Given the description of an element on the screen output the (x, y) to click on. 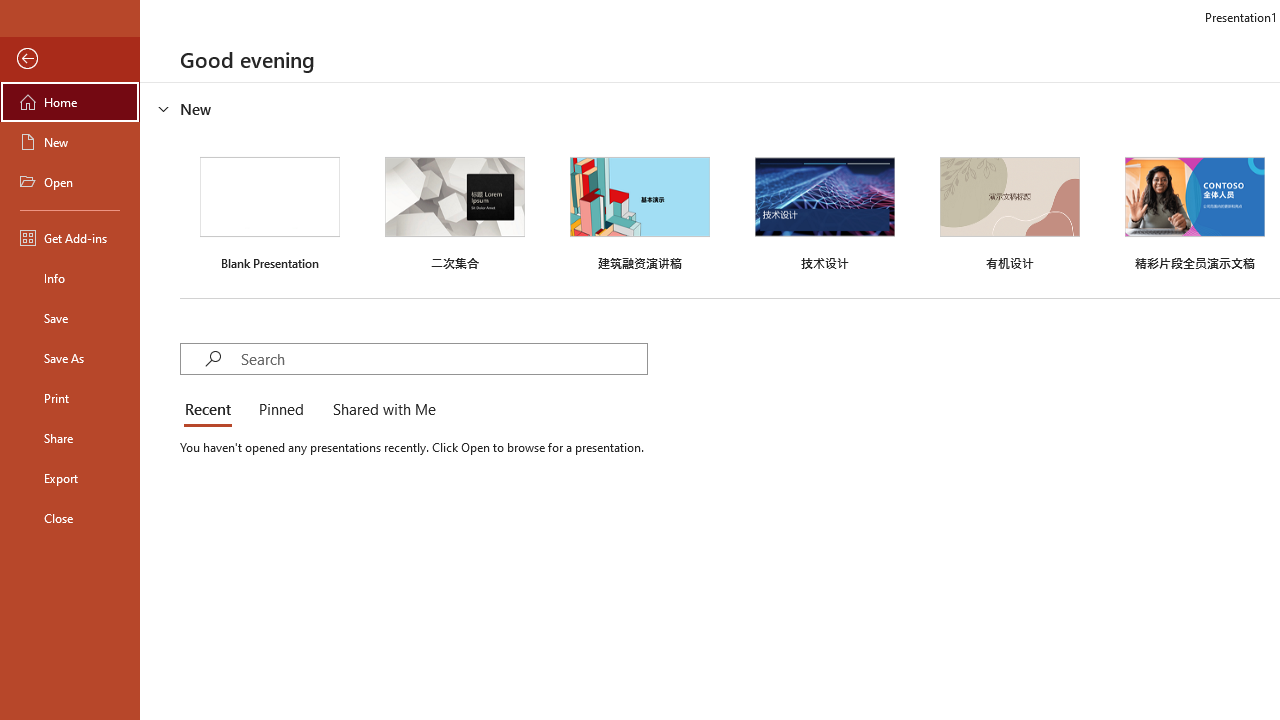
Pinned (280, 410)
New (69, 141)
Hide or show region (164, 108)
Print (69, 398)
Info (69, 277)
